Given the description of an element on the screen output the (x, y) to click on. 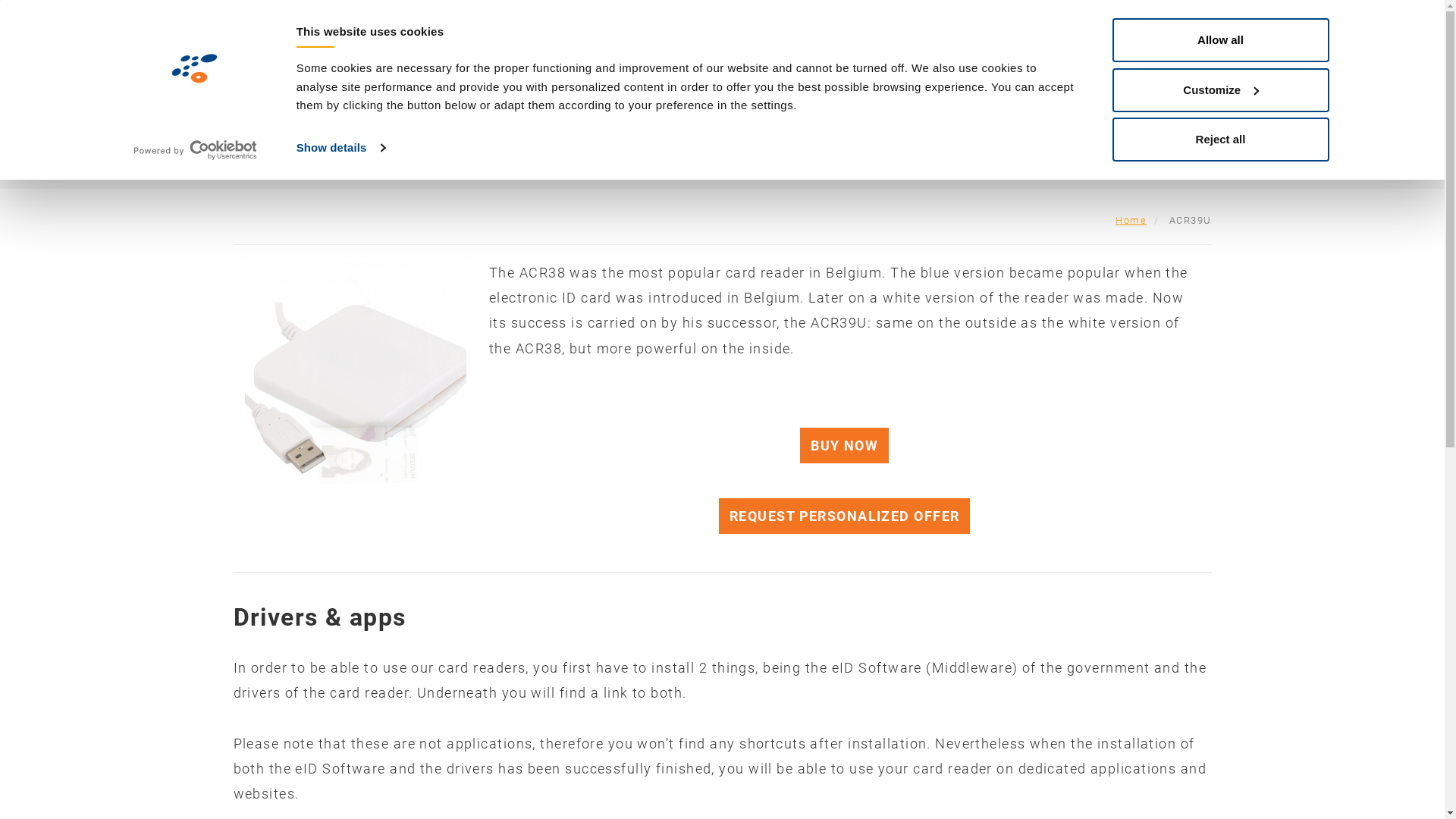
Skip to main content Element type: text (0, 0)
POCKETMATE USB-C Element type: text (1245, 78)
ACR39U Element type: text (1015, 78)
  Element type: text (1418, 27)
Reject all Element type: text (1219, 139)
Customize Element type: text (1219, 90)
CONTACT US Element type: text (1383, 78)
Got a question ?
Ask an expert Element type: text (834, 31)
Show details Element type: text (340, 147)
SIPIRO M BLUETOOTH Element type: text (634, 78)
QUICKID MINI Element type: text (754, 78)
POCKETMATE USB Element type: text (1113, 78)
Allow all Element type: text (1219, 40)
C25 Element type: text (955, 78)
C41 Element type: text (905, 78)
BUY NOW Element type: text (844, 445)
Home Element type: hover (51, 27)
Home Element type: text (1130, 219)
REQUEST PERSONALIZED OFFER Element type: text (843, 515)
QUICKID Element type: text (843, 78)
